Given the description of an element on the screen output the (x, y) to click on. 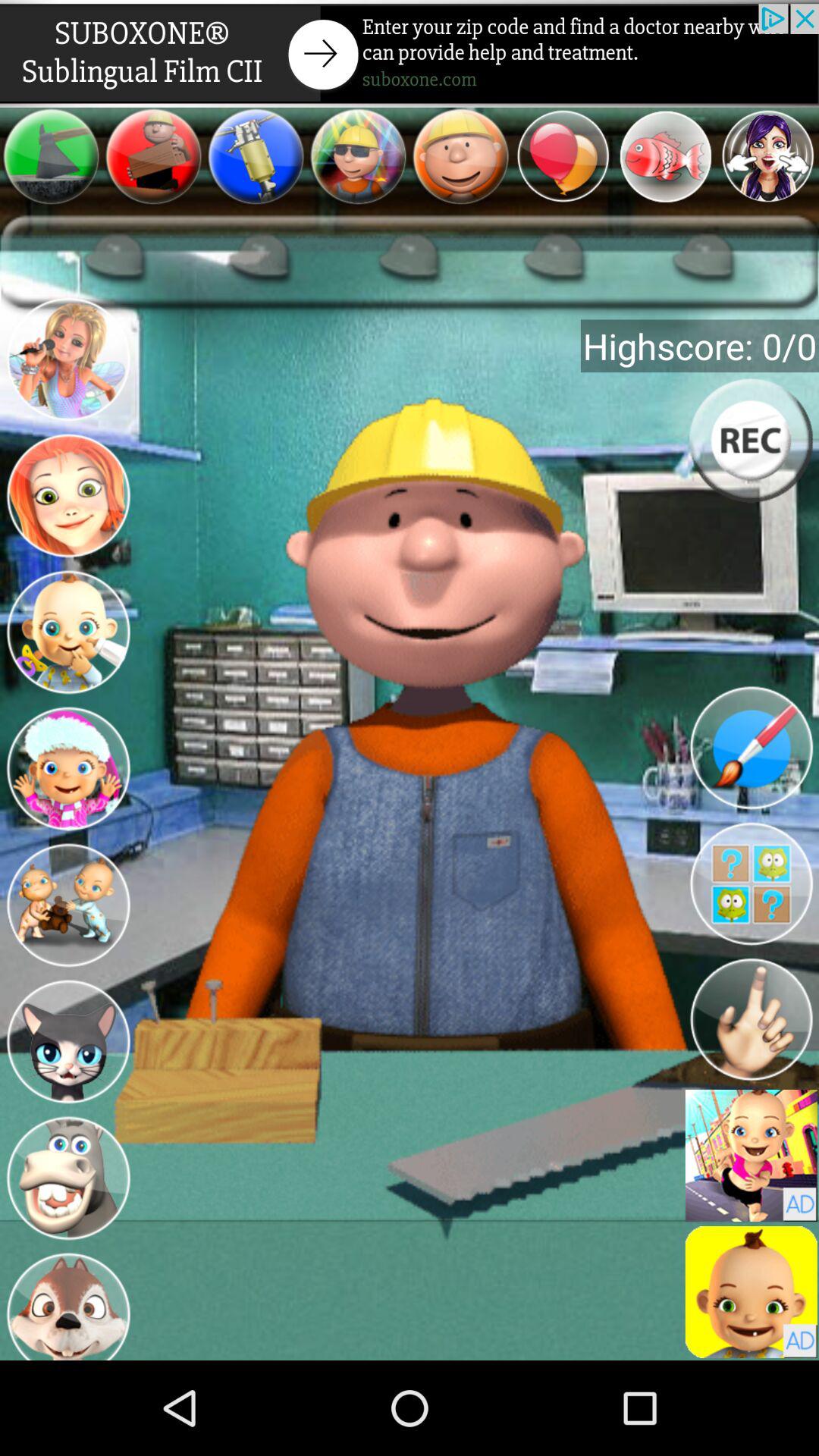
chipmunk icon (68, 1303)
